Given the description of an element on the screen output the (x, y) to click on. 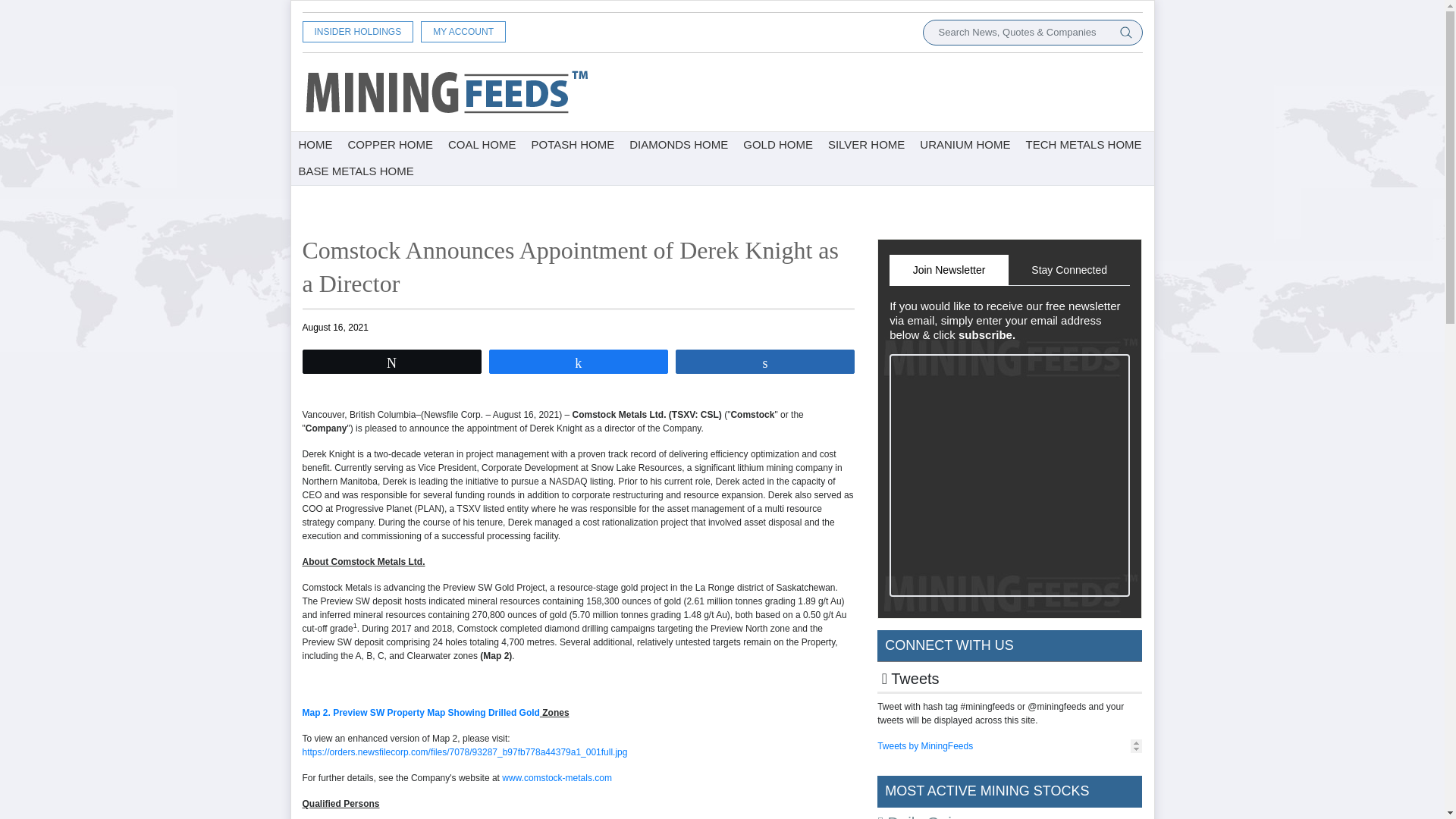
HOME (315, 144)
DIAMONDS HOME (678, 144)
MY ACCOUNT (462, 31)
POTASH HOME (572, 144)
COPPER HOME (389, 144)
INSIDER HOLDINGS (357, 31)
COAL HOME (481, 144)
